Given the description of an element on the screen output the (x, y) to click on. 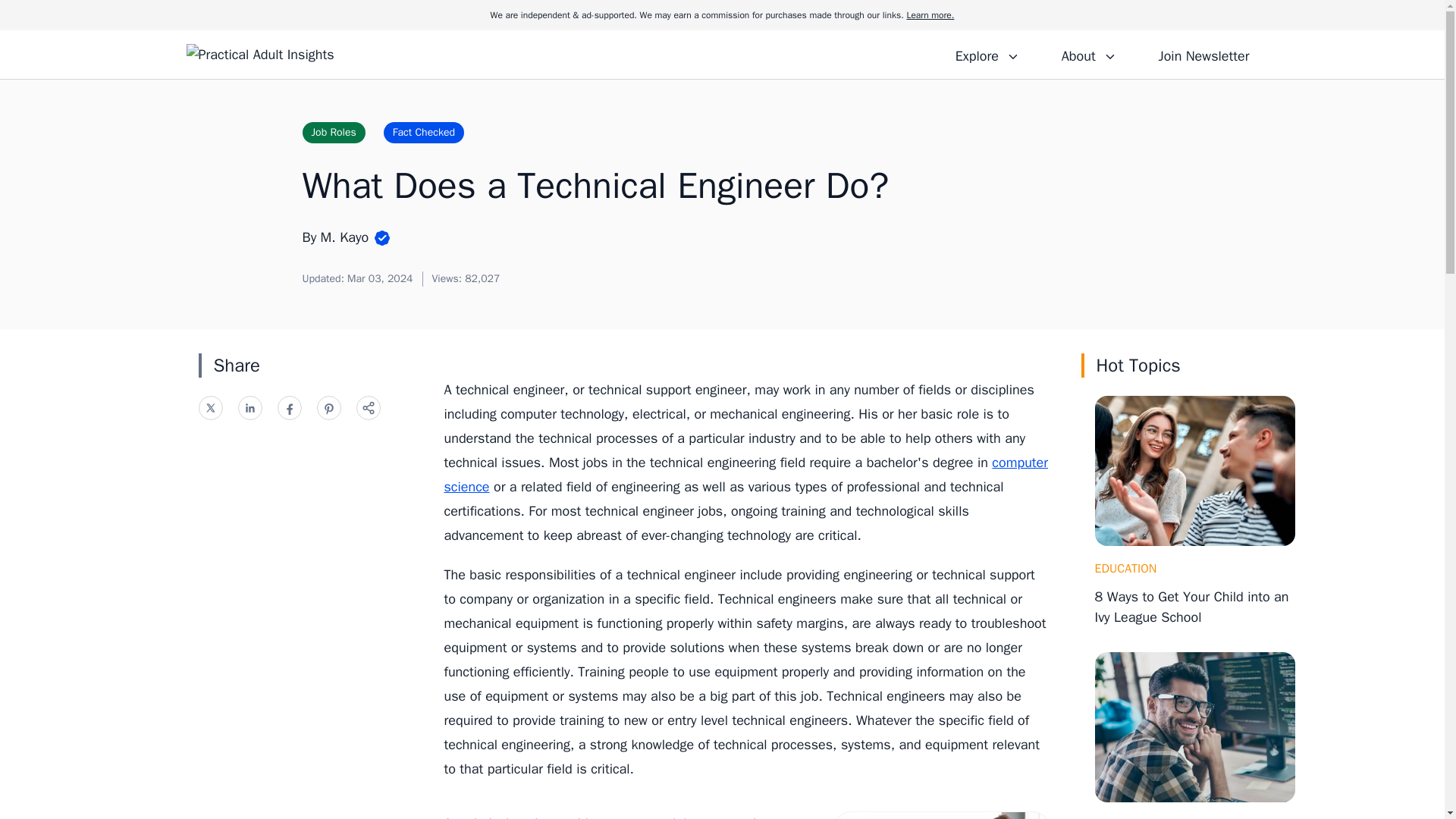
Join Newsletter (1202, 54)
Job Roles (333, 132)
Learn more. (929, 15)
Explore (986, 54)
Fact Checked (424, 132)
About (1088, 54)
